Given the description of an element on the screen output the (x, y) to click on. 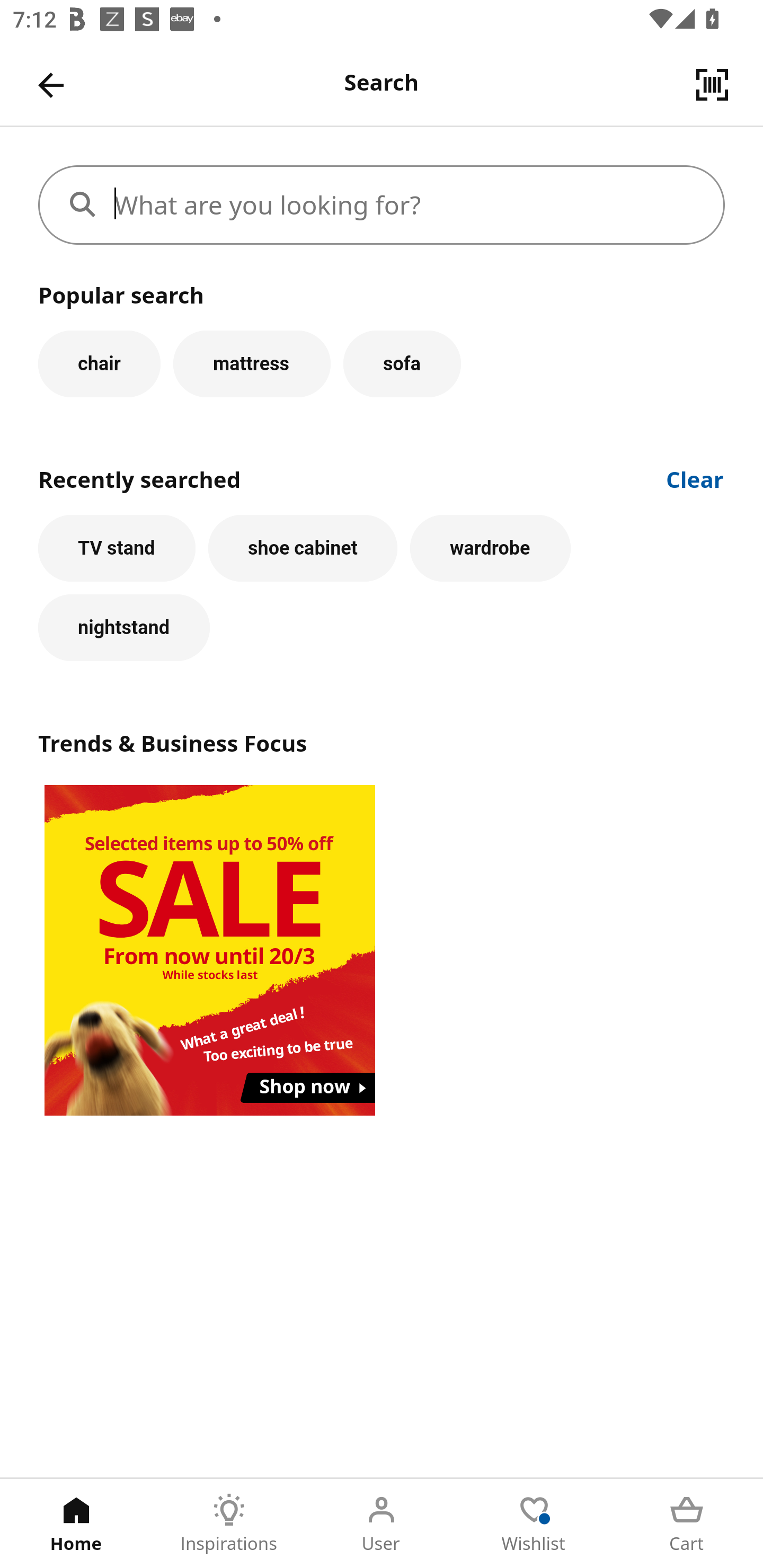
chair (99, 363)
mattress (251, 363)
sofa (401, 363)
Clear (695, 477)
TV stand (116, 547)
shoe cabinet (302, 547)
wardrobe (490, 547)
nightstand (123, 627)
Home
Tab 1 of 5 (76, 1522)
Inspirations
Tab 2 of 5 (228, 1522)
User
Tab 3 of 5 (381, 1522)
Wishlist
Tab 4 of 5 (533, 1522)
Cart
Tab 5 of 5 (686, 1522)
